Given the description of an element on the screen output the (x, y) to click on. 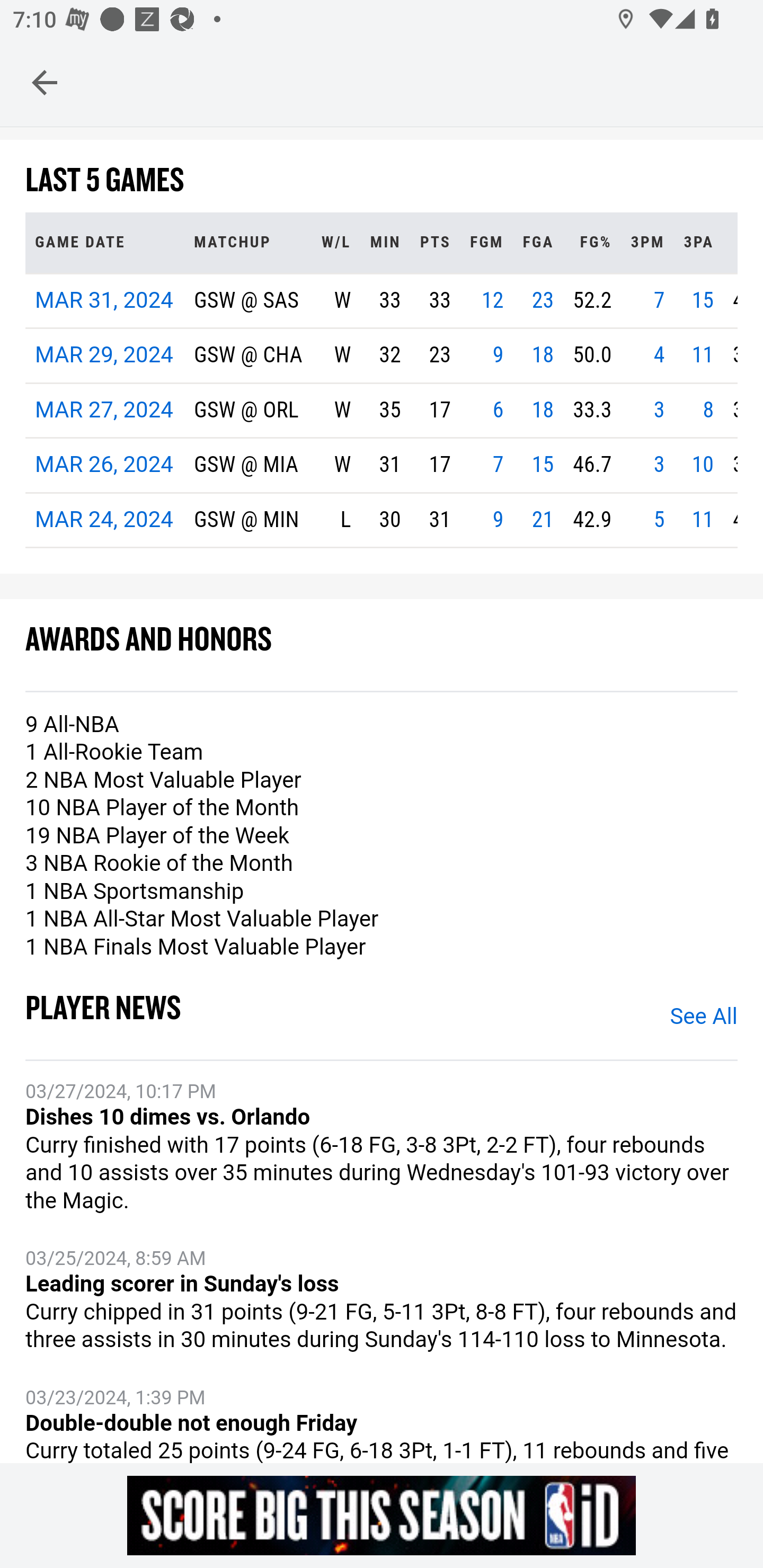
Navigate up (44, 82)
MAR 31, 2024 (104, 300)
12 (492, 300)
23 (542, 300)
7 (659, 300)
15 (703, 300)
MAR 29, 2024 (104, 356)
9 (497, 356)
18 (542, 356)
4 (659, 356)
11 (703, 356)
MAR 27, 2024 (104, 410)
6 (497, 410)
18 (542, 410)
3 (659, 410)
8 (708, 410)
MAR 26, 2024 (104, 466)
7 (497, 466)
15 (542, 466)
3 (659, 466)
10 (703, 466)
MAR 24, 2024 (104, 520)
9 (497, 520)
21 (542, 520)
5 (659, 520)
11 (703, 520)
See All (703, 1018)
g5nqqygr7owph (381, 1515)
